Given the description of an element on the screen output the (x, y) to click on. 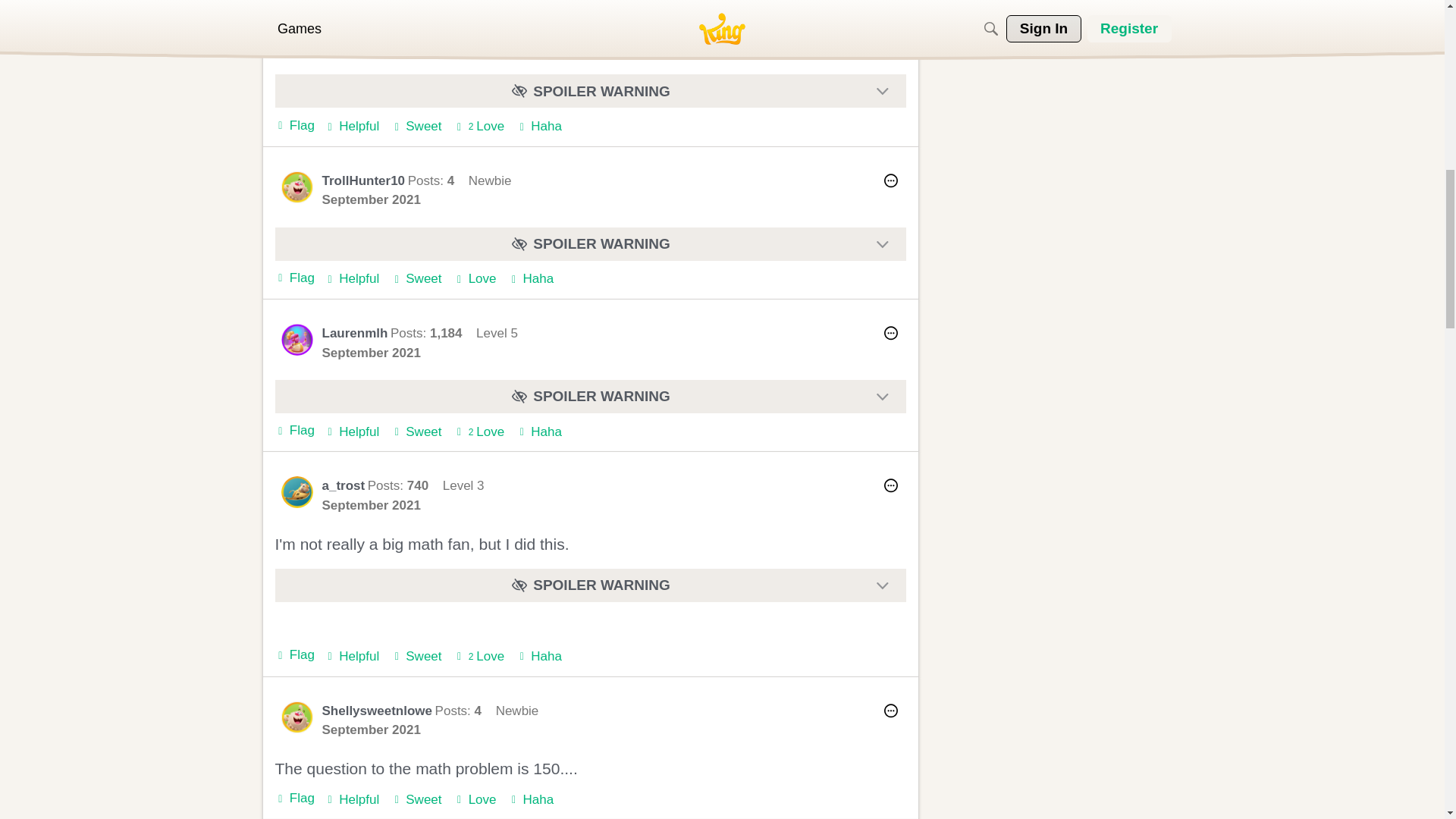
Love (479, 126)
TrollHunter10 (362, 28)
Helpful (351, 126)
Haha (539, 126)
TrollHunter10 (479, 126)
Sweet (297, 34)
September 2021 (416, 126)
Haha (370, 47)
Helpful (539, 126)
September 14, 2021 9:08PM (351, 126)
Toggle Spoiler (370, 199)
SPOILER WARNING (590, 90)
Newbie (590, 90)
Newbie (490, 28)
